Given the description of an element on the screen output the (x, y) to click on. 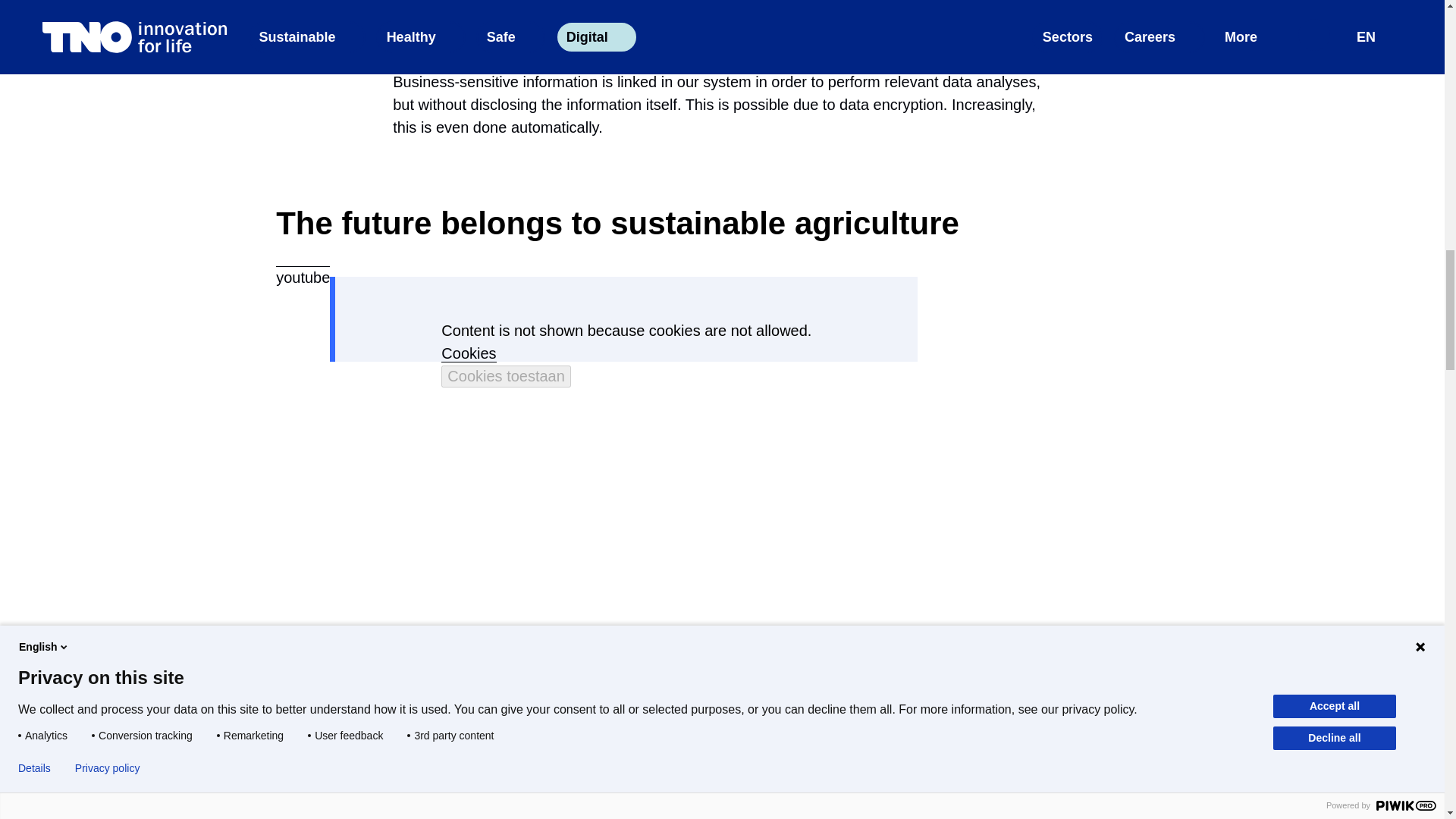
Cookies toestaan (505, 376)
IDS Blockchain (578, 0)
youtube (303, 266)
Cookies toestaan (505, 376)
Cookies (468, 353)
